Given the description of an element on the screen output the (x, y) to click on. 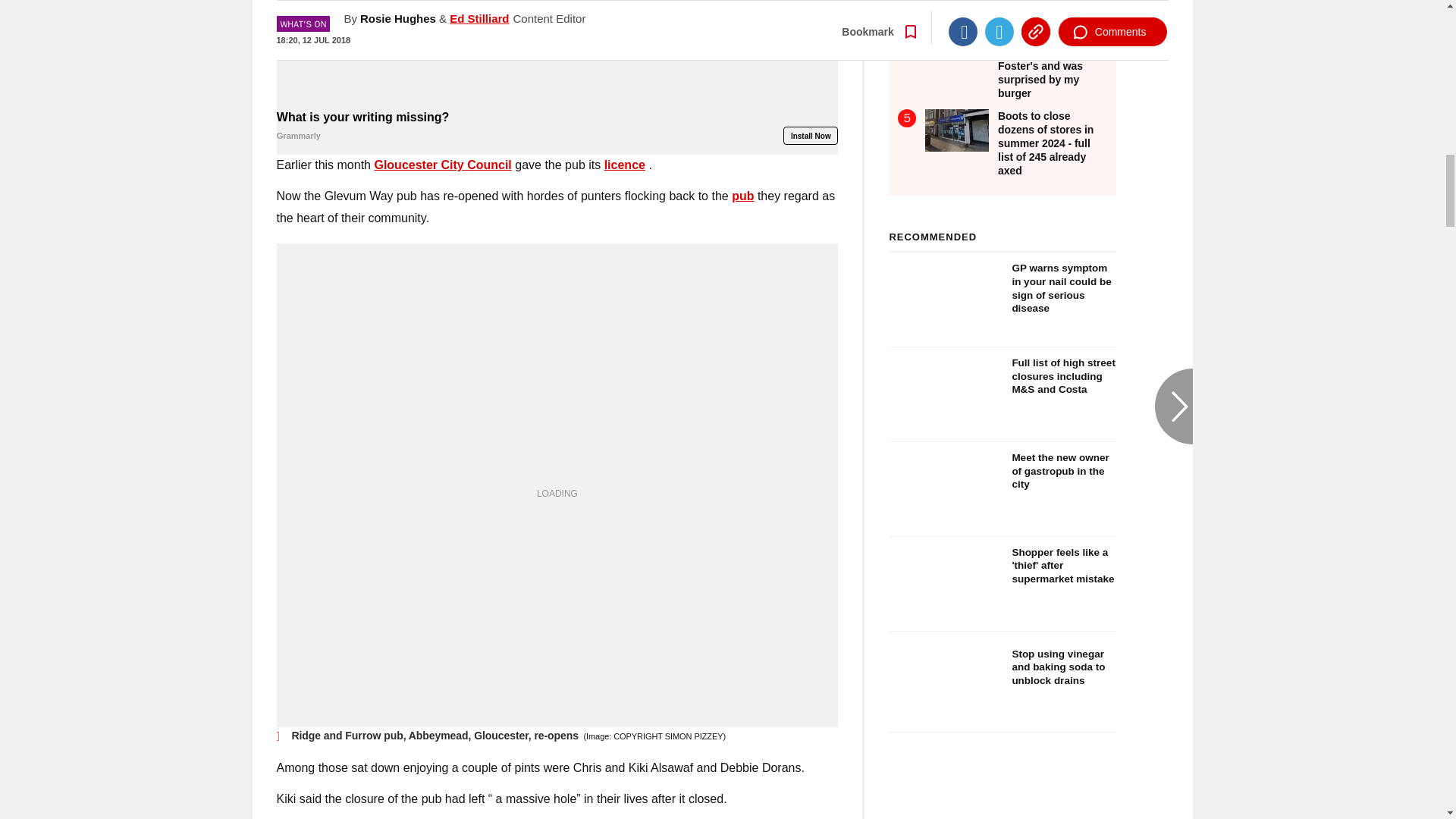
What is your writing missing? (557, 53)
